Given the description of an element on the screen output the (x, y) to click on. 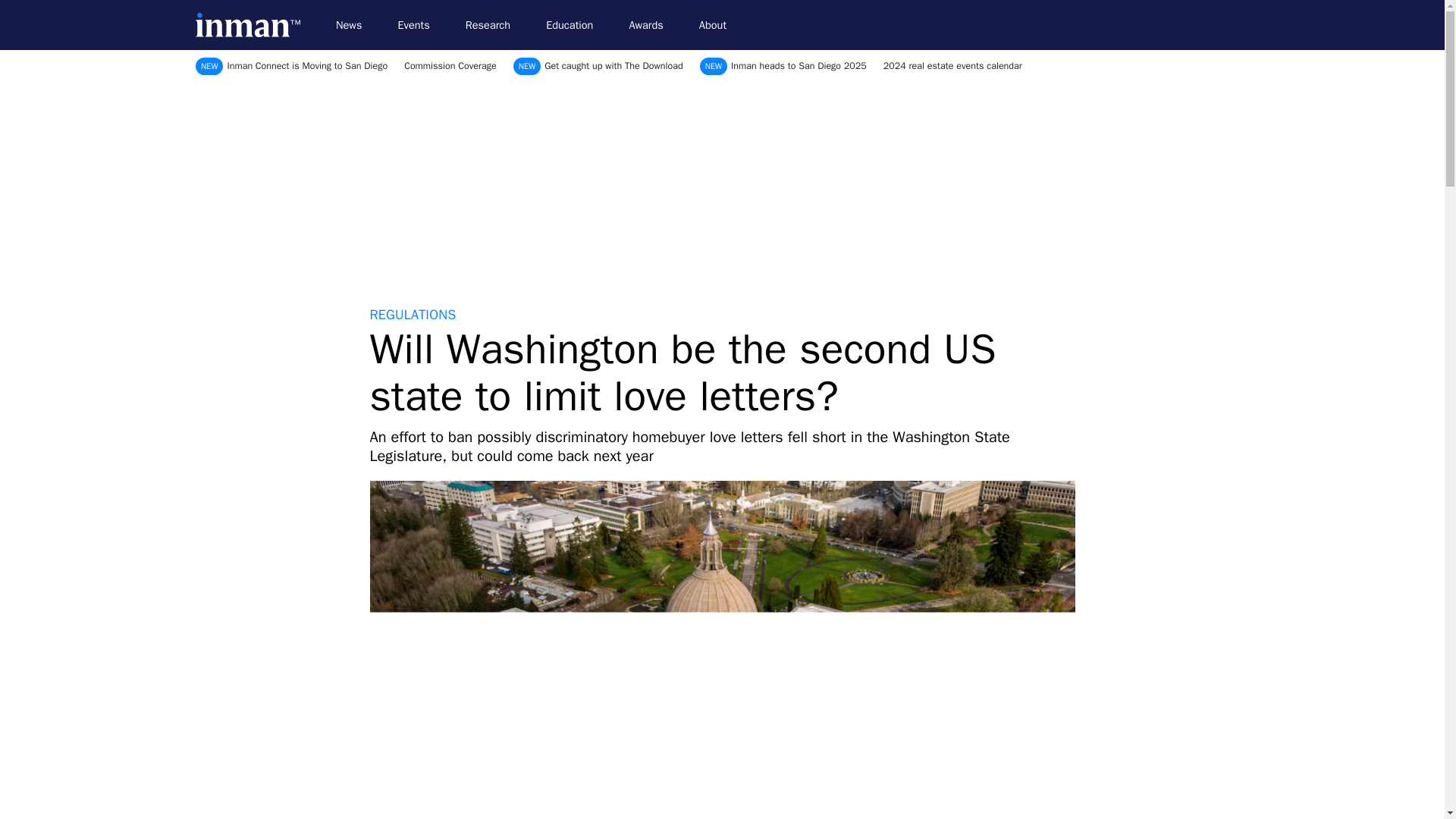
News (355, 25)
Research (493, 25)
Events (419, 25)
Education (575, 25)
Awards (651, 25)
